Given the description of an element on the screen output the (x, y) to click on. 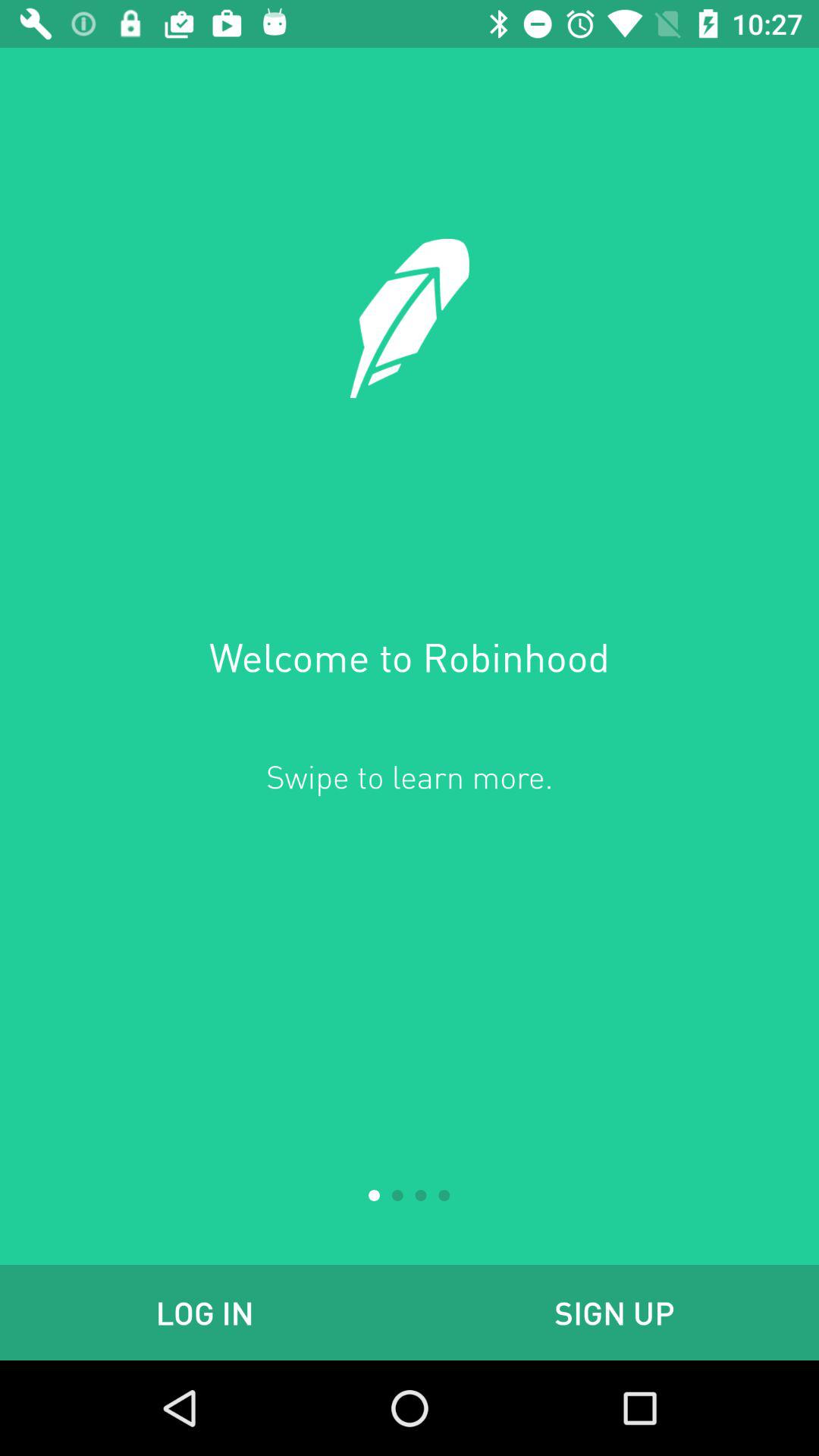
select icon to the left of sign up icon (204, 1312)
